Given the description of an element on the screen output the (x, y) to click on. 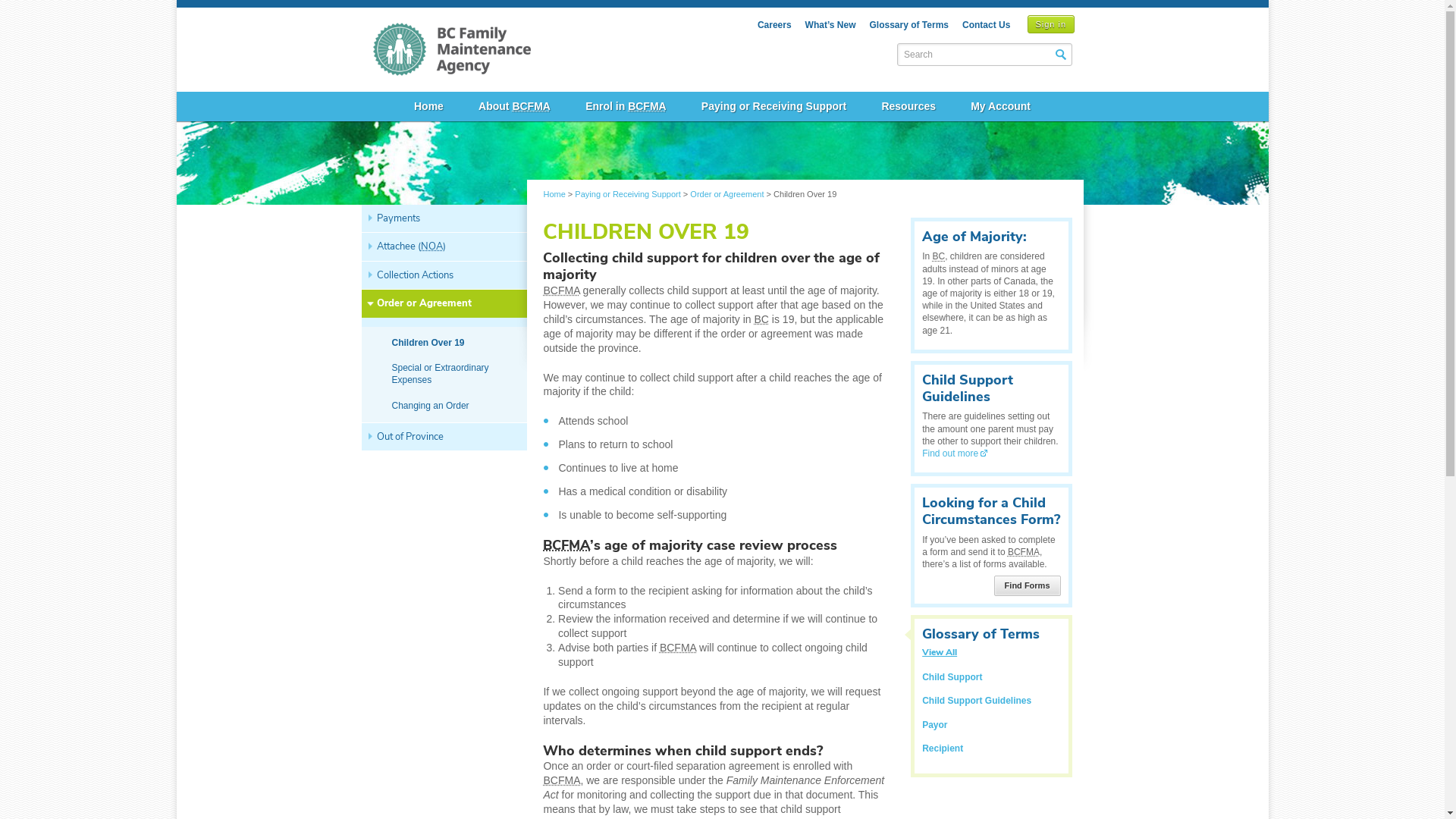
Child Support Element type: text (952, 676)
View All Element type: text (939, 652)
Special or Extraordinary Expenses Element type: text (445, 373)
Sign in Element type: text (1050, 23)
Careers Element type: text (774, 24)
Out of Province Element type: text (445, 436)
Recipient Element type: text (942, 748)
Find Forms Element type: text (1027, 585)
Children Over 19 Element type: text (445, 342)
Home Page Element type: hover (451, 40)
Resources Element type: text (908, 106)
About BCFMA Element type: text (514, 106)
Paying or Receiving Support Element type: text (627, 193)
Payments Element type: text (445, 218)
Order or Agreement Element type: text (726, 193)
Home Element type: text (553, 193)
Search Element type: text (1060, 54)
Payor Element type: text (934, 723)
Paying or Receiving Support Element type: text (774, 106)
Home Element type: text (428, 106)
Contact Us Element type: text (986, 24)
Order or Agreement Element type: text (445, 302)
Changing an Order Element type: text (445, 404)
Attachee (NOA) Element type: text (445, 246)
My Account Element type: text (1000, 106)
Find out more Element type: text (955, 453)
Glossary of Terms Element type: text (908, 24)
Collection Actions Element type: text (445, 274)
Child Support Guidelines Element type: text (976, 700)
Enrol in BCFMA Element type: text (625, 106)
